Given the description of an element on the screen output the (x, y) to click on. 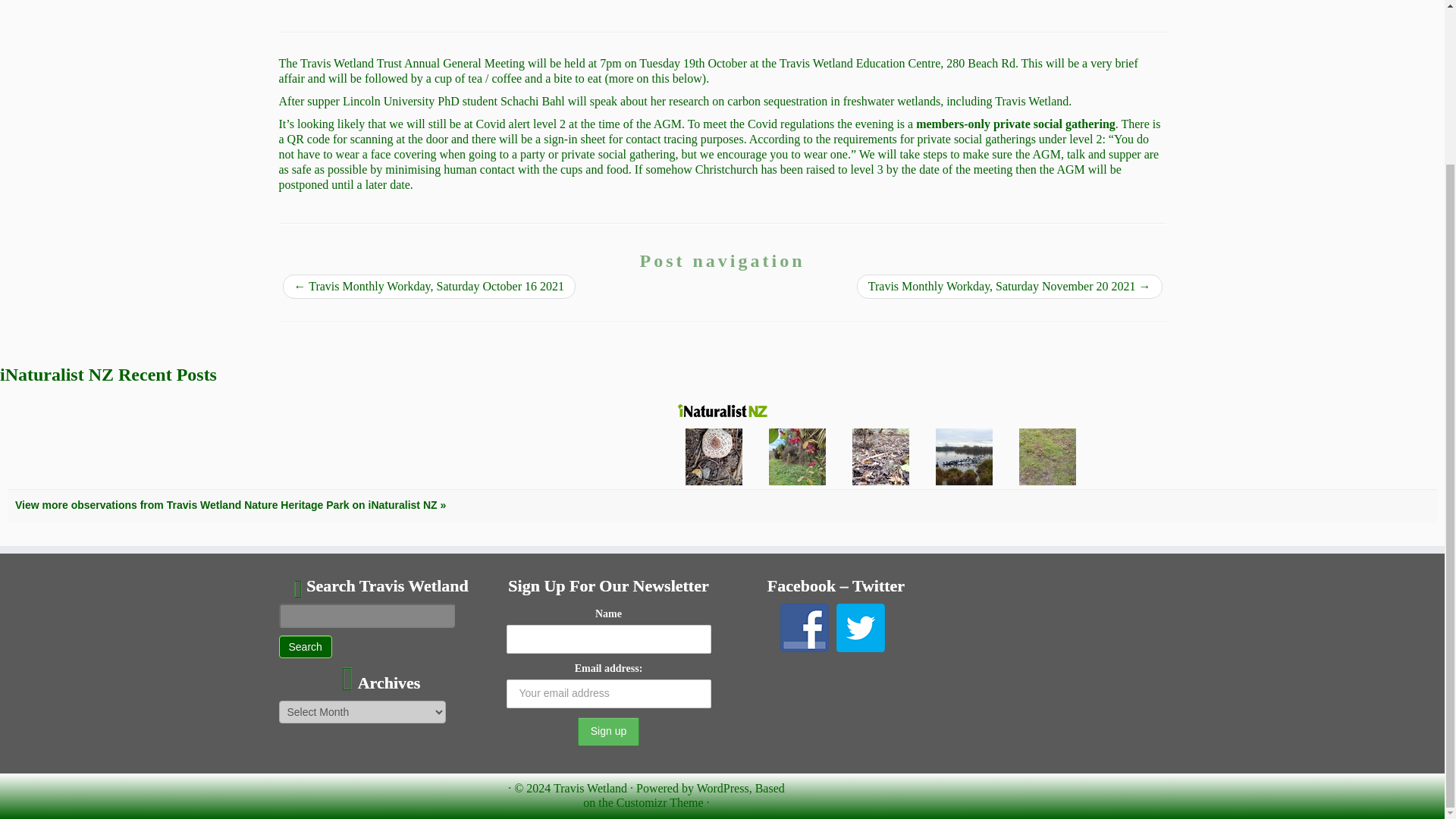
Follow Us on Twitter (859, 627)
Search (305, 646)
Follow Us on Facebook (803, 627)
Travis Wetland (590, 788)
Sign up (608, 731)
